Given the description of an element on the screen output the (x, y) to click on. 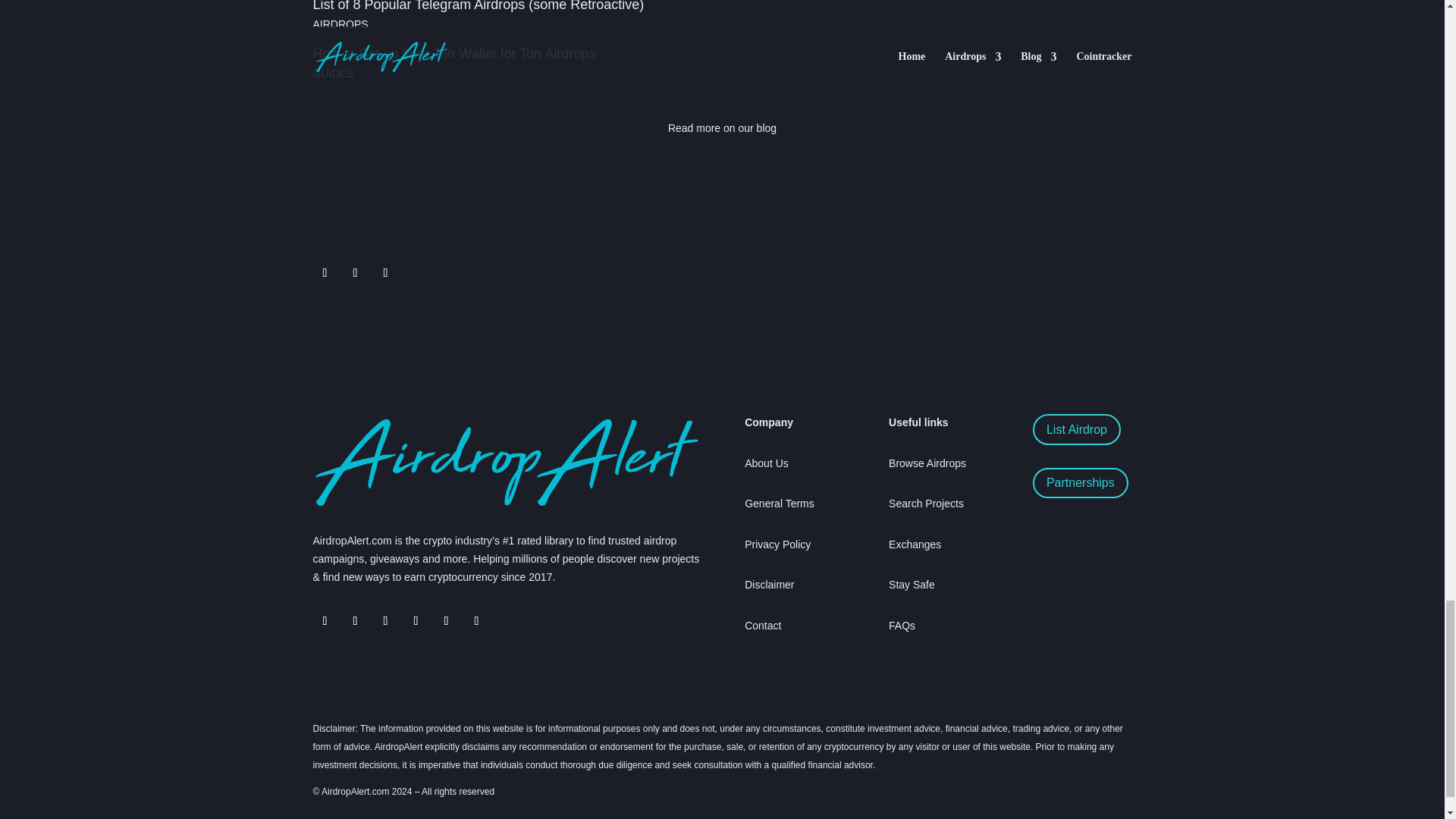
Follow on X (354, 621)
airdrop-alert-logo (505, 461)
Follow on Youtube (445, 621)
Follow on Telegram (324, 621)
Follow on Telegram (354, 273)
Follow on Facebook (384, 273)
Follow on Instagram (415, 621)
Follow on Facebook (384, 621)
Follow on X (324, 273)
